Given the description of an element on the screen output the (x, y) to click on. 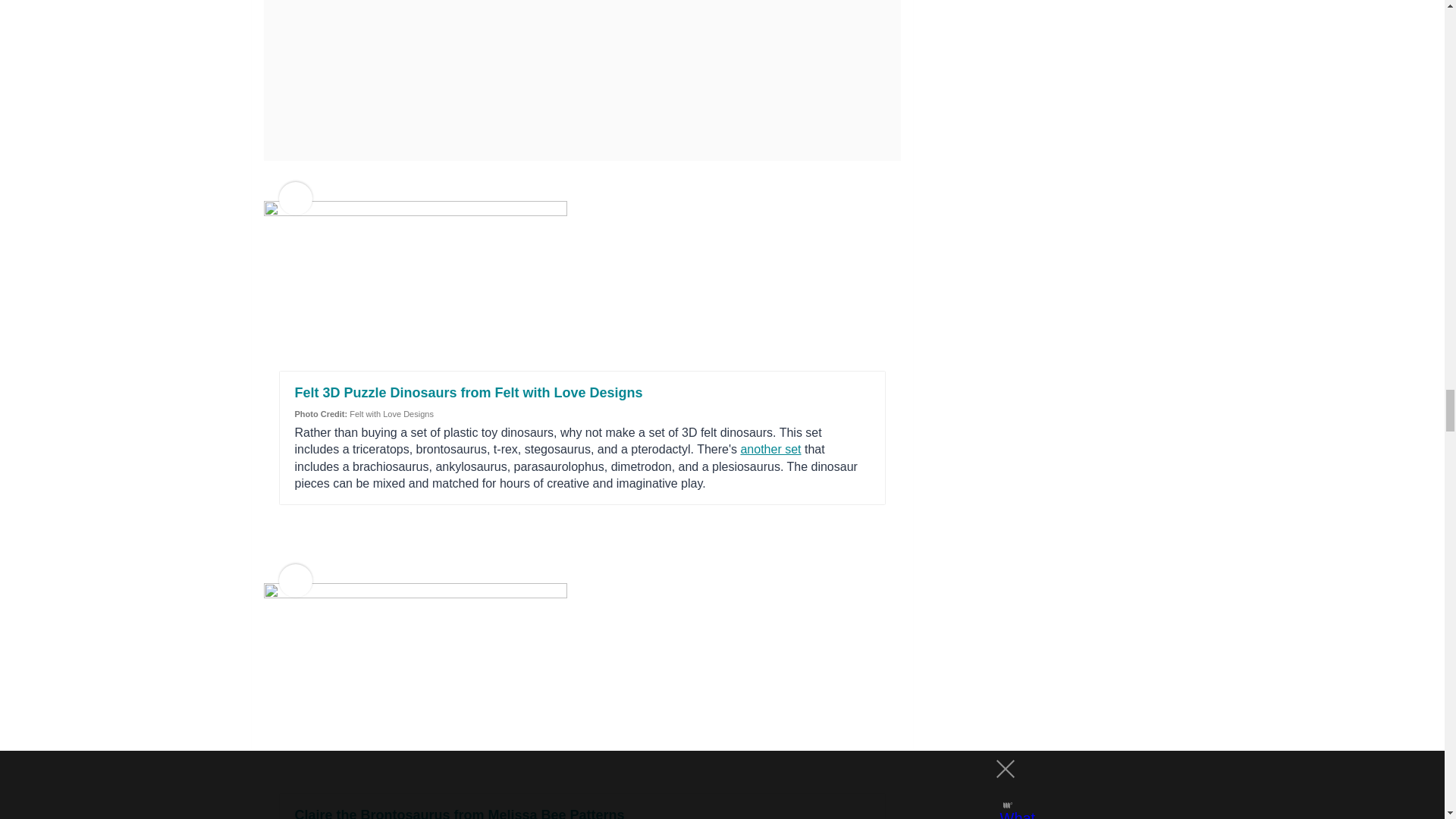
another set (769, 449)
Felt 3D Puzzle Dinosaurs from Felt with Love Designs (468, 392)
